Given the description of an element on the screen output the (x, y) to click on. 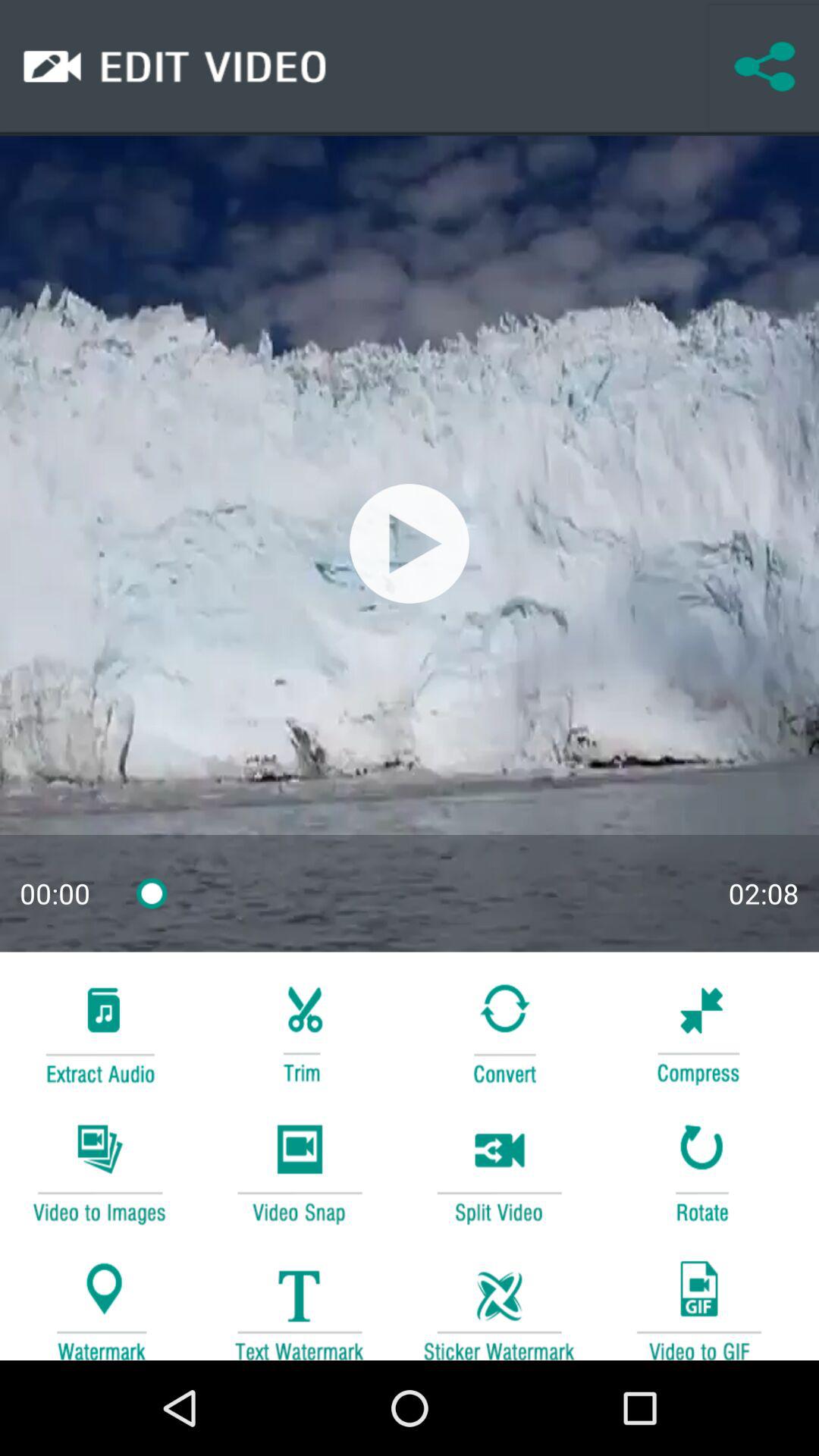
trim option (299, 1032)
